Given the description of an element on the screen output the (x, y) to click on. 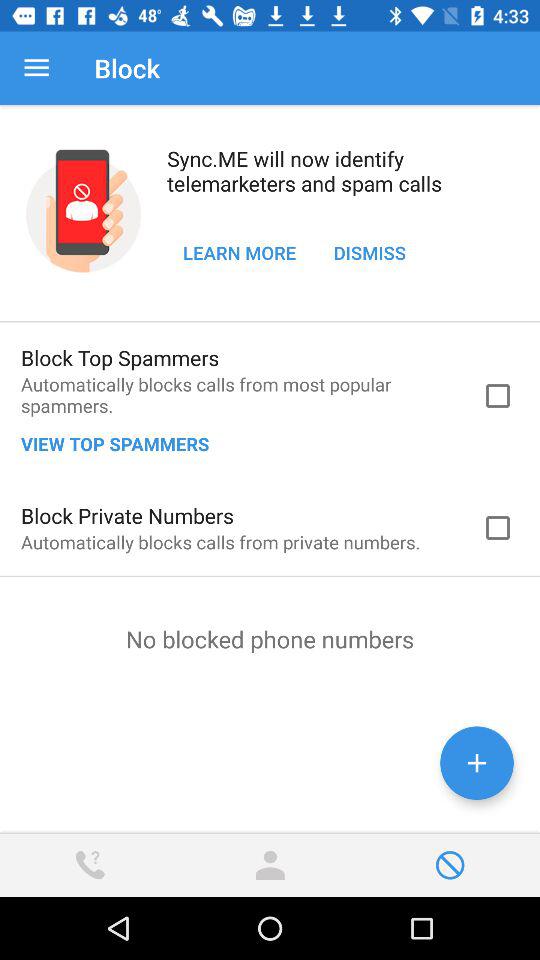
click icon next to learn more (369, 252)
